Given the description of an element on the screen output the (x, y) to click on. 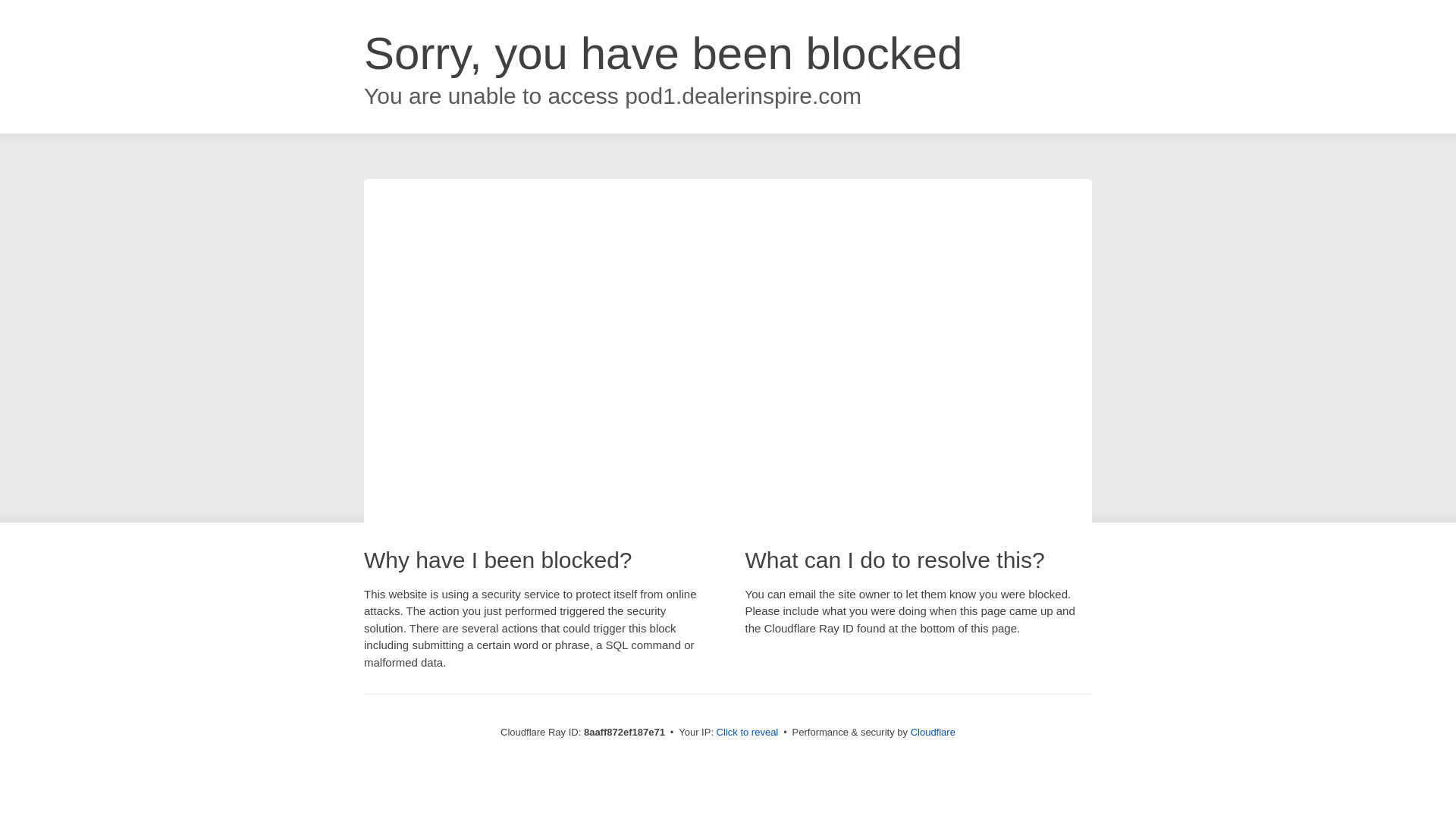
Click to reveal (747, 732)
Cloudflare (933, 731)
